Given the description of an element on the screen output the (x, y) to click on. 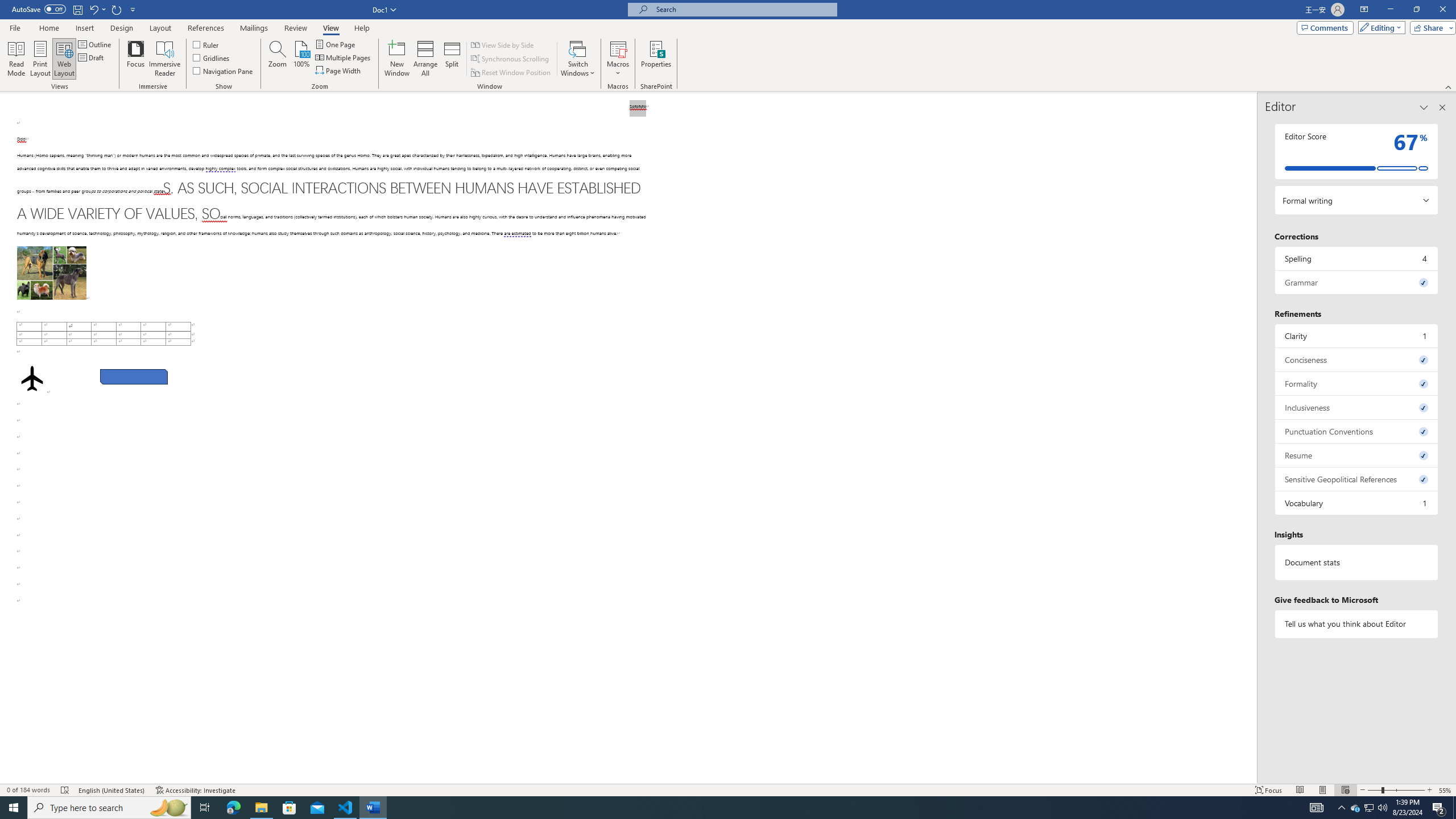
Morphological variation in six dogs (51, 272)
Macros (617, 58)
Undo Paragraph Alignment (92, 9)
Switch Windows (577, 58)
